Given the description of an element on the screen output the (x, y) to click on. 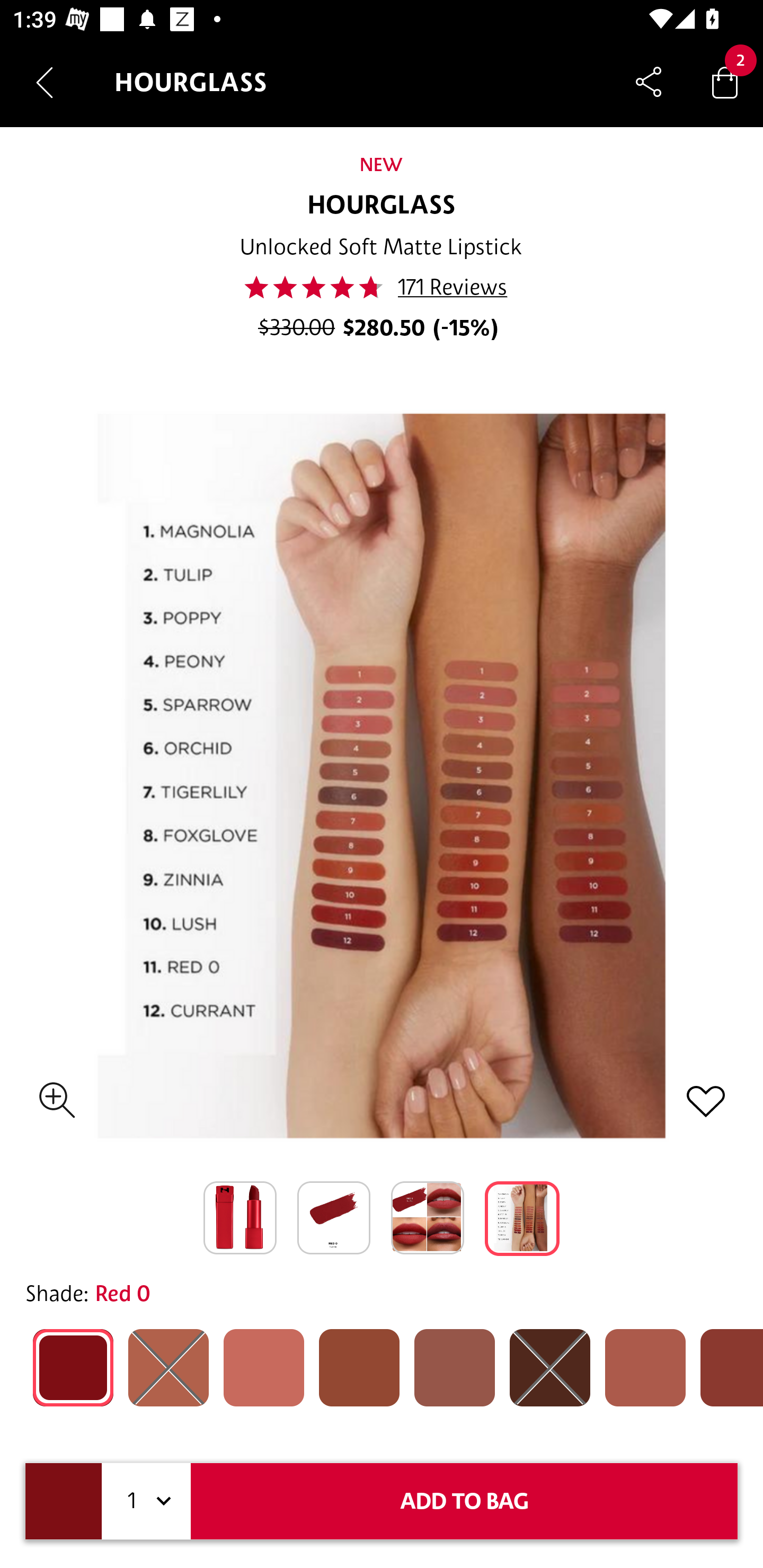
Navigate up (44, 82)
Share (648, 81)
Bag (724, 81)
HOURGLASS (381, 205)
47.0 171 Reviews (380, 286)
1 (145, 1500)
ADD TO BAG (463, 1500)
